Given the description of an element on the screen output the (x, y) to click on. 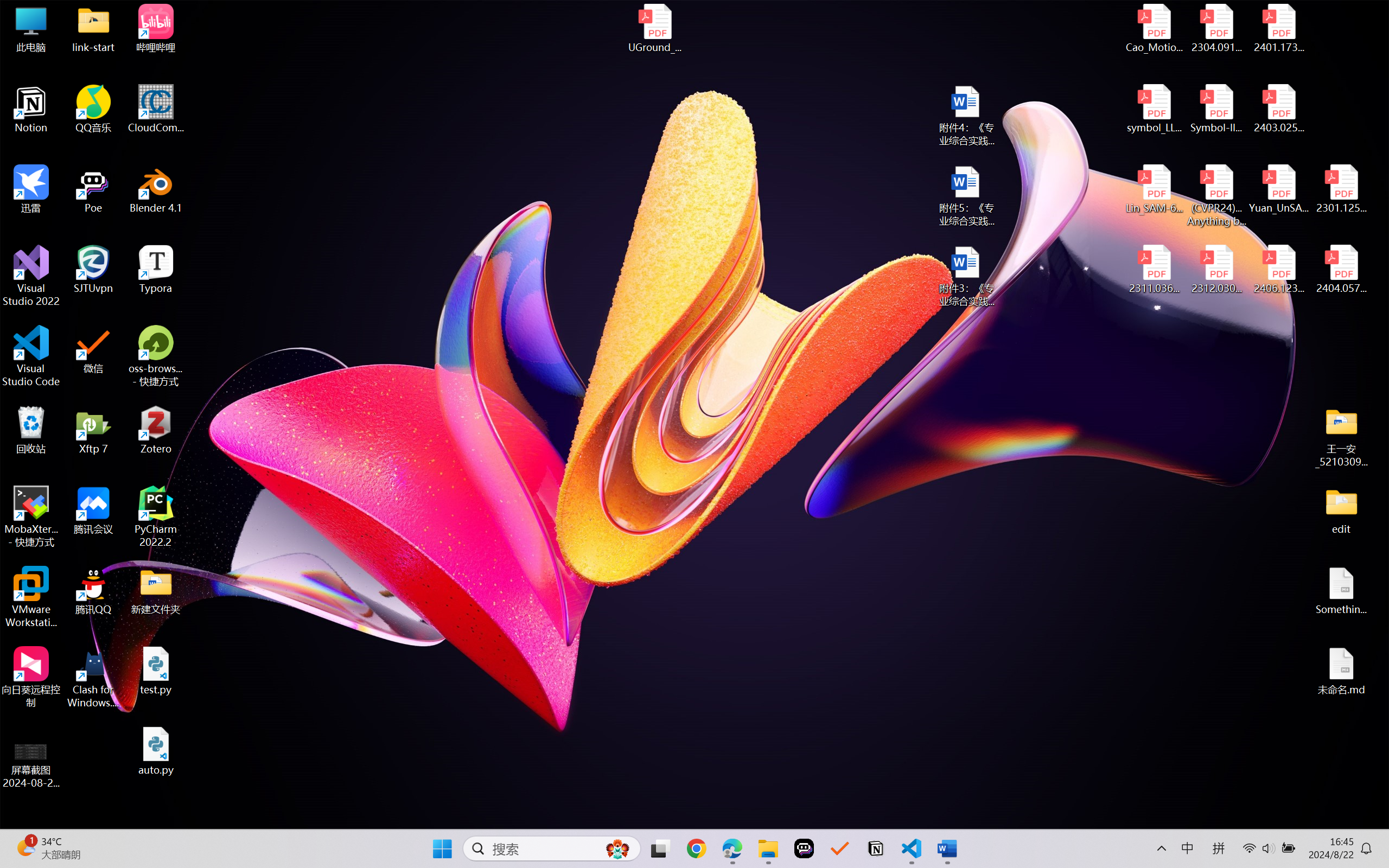
Google Chrome (696, 848)
Something.md (1340, 591)
Visual Studio Code (31, 355)
